Given the description of an element on the screen output the (x, y) to click on. 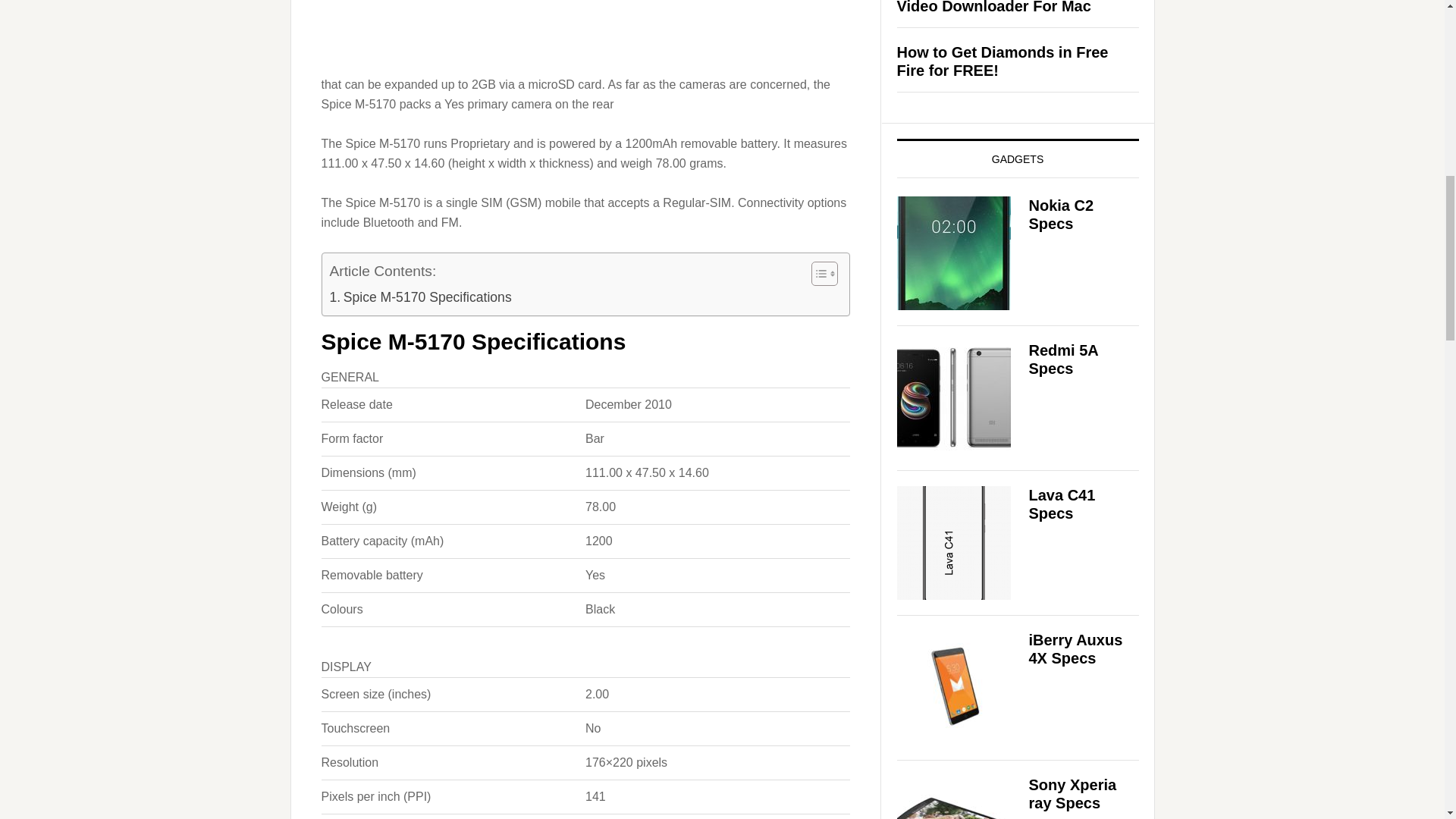
How to Get Diamonds in Free Fire for FREE! (1002, 61)
Spice M-5170 Specifications (420, 296)
Advertisement (585, 82)
Spice M-5170 Specifications (420, 296)
Nokia C2 Specs (1060, 214)
VideoDuke Review: An Ultimate Video Downloader For Mac (1010, 7)
